Given the description of an element on the screen output the (x, y) to click on. 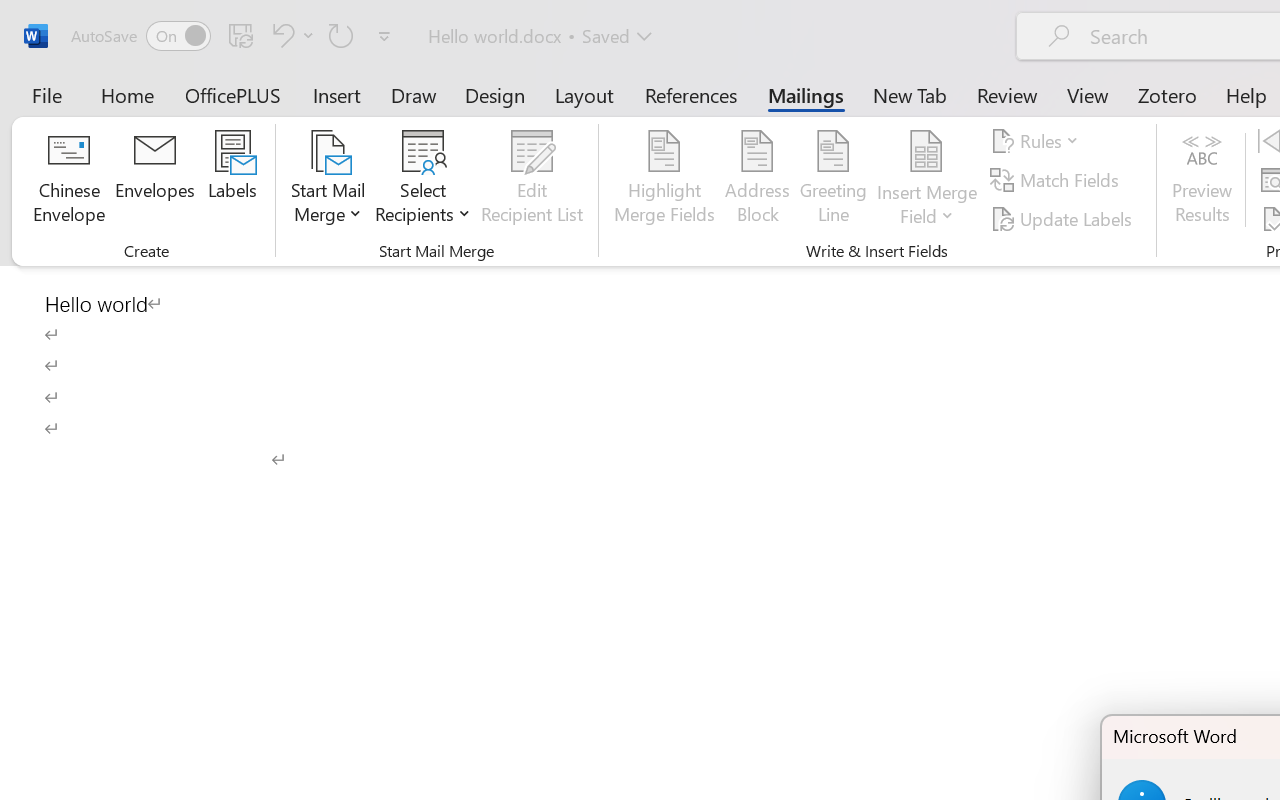
View (1087, 94)
Chinese Envelope... (68, 179)
Home (127, 94)
Labels... (232, 179)
AutoSave (140, 35)
Draw (413, 94)
Quick Access Toolbar (233, 36)
